Given the description of an element on the screen output the (x, y) to click on. 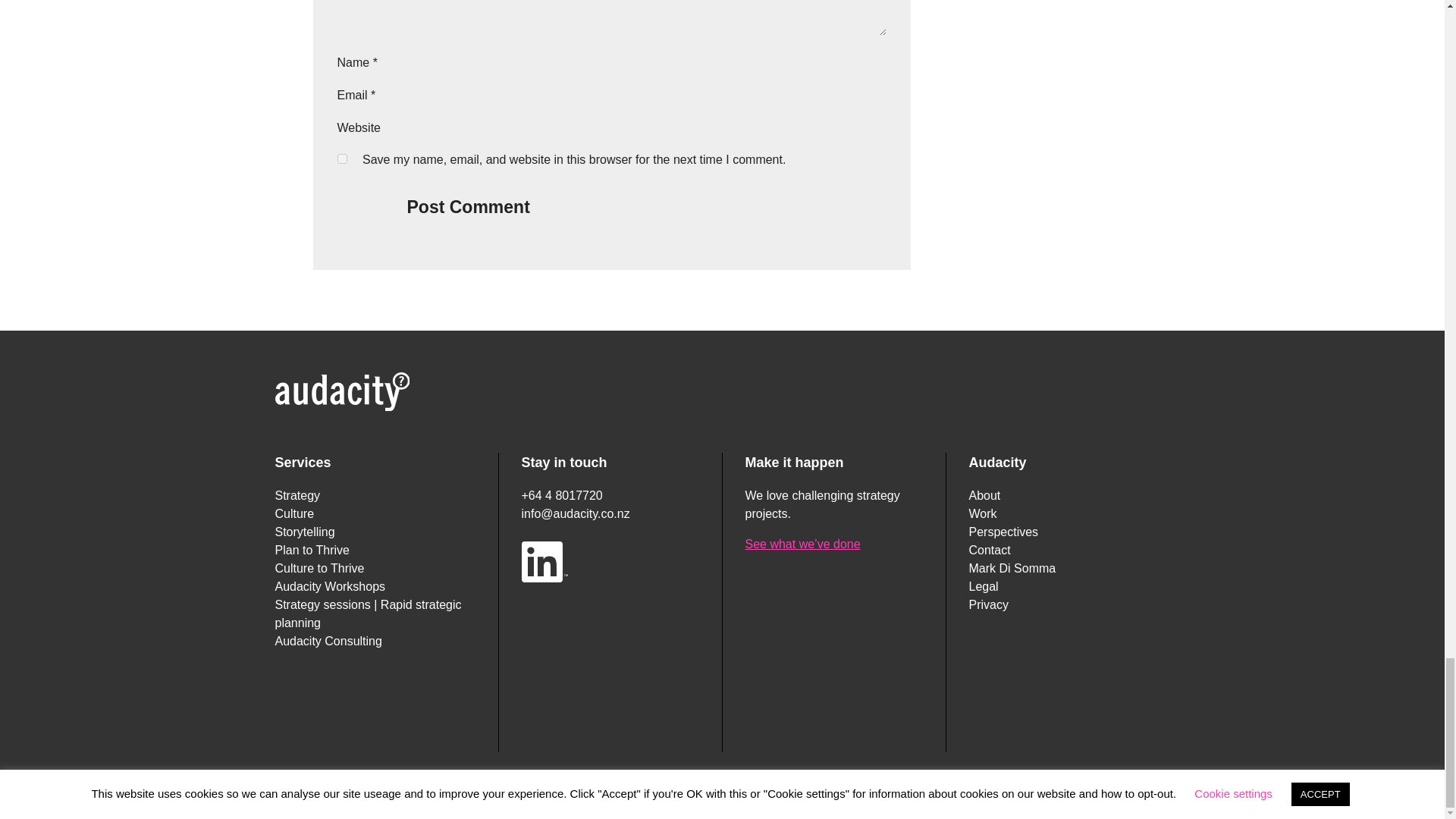
Post Comment (467, 206)
Post Comment (467, 206)
yes (341, 158)
Culture (294, 513)
Strategy (297, 495)
